Given the description of an element on the screen output the (x, y) to click on. 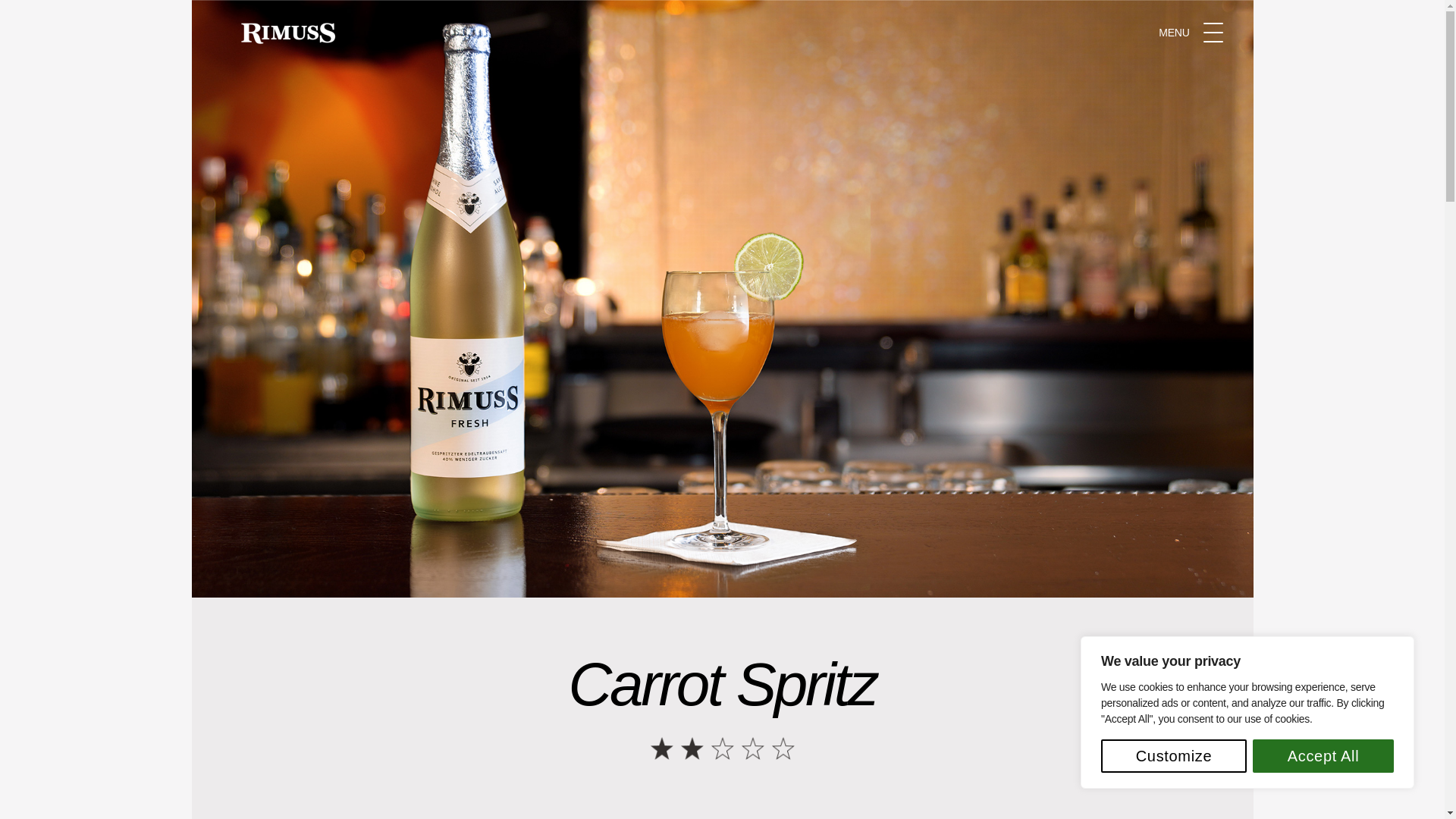
Customize (1173, 756)
Accept All (1322, 756)
